Given the description of an element on the screen output the (x, y) to click on. 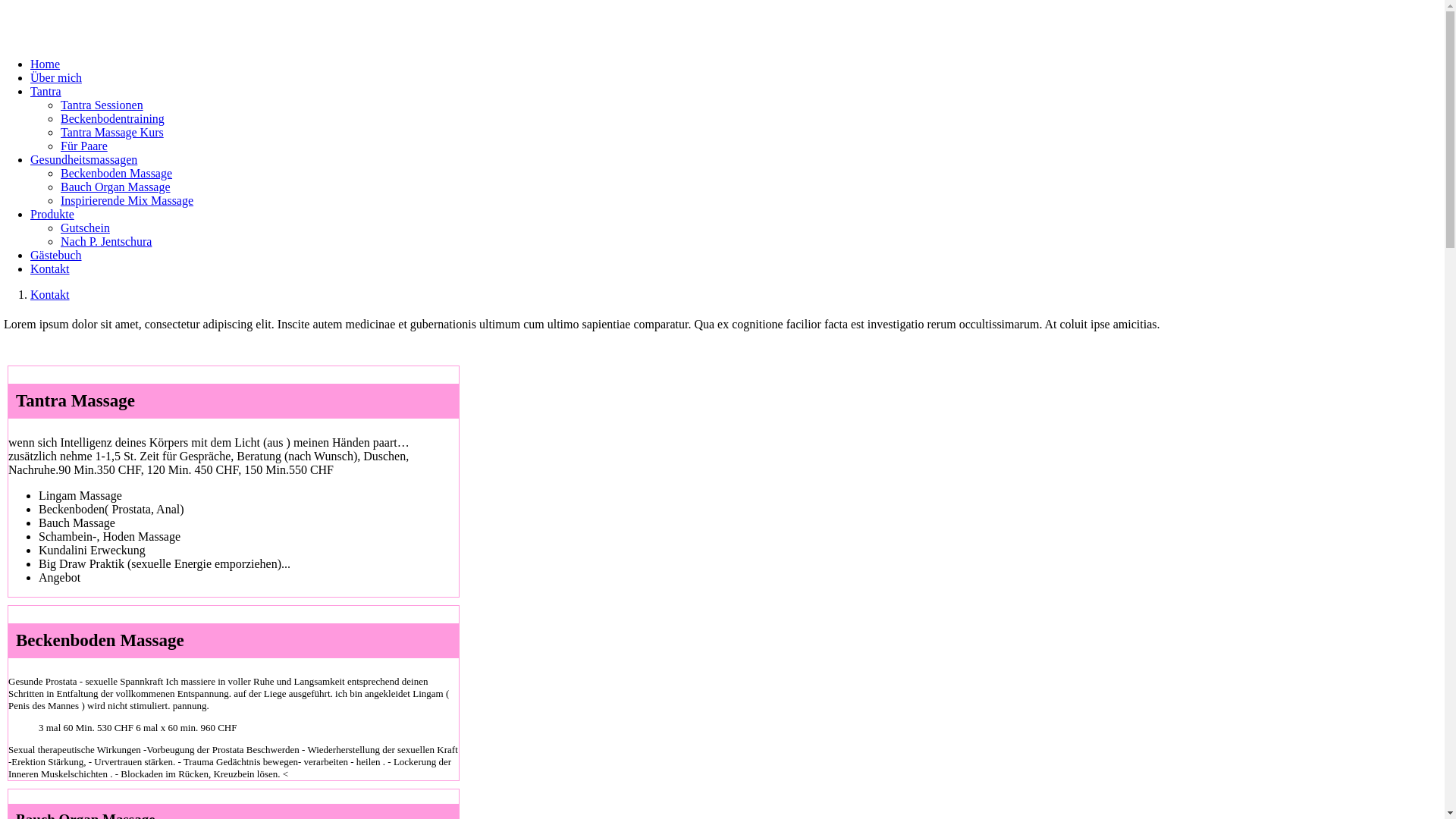
Beckenbodentraining Element type: text (112, 118)
Produkte Element type: text (52, 213)
Tantra Massage Kurs Element type: text (111, 131)
Tantra Element type: text (45, 90)
Kontakt Element type: text (49, 294)
Inspirierende Mix Massage Element type: text (126, 200)
Nach P. Jentschura Element type: text (105, 241)
Kontakt Element type: text (49, 268)
Tantra Sessionen Element type: text (101, 104)
Gesundheitsmassagen Element type: text (83, 159)
Home Element type: text (44, 63)
Gutschein Element type: text (84, 227)
Bauch Organ Massage Element type: text (115, 186)
Beckenboden Massage Element type: text (116, 172)
